Given the description of an element on the screen output the (x, y) to click on. 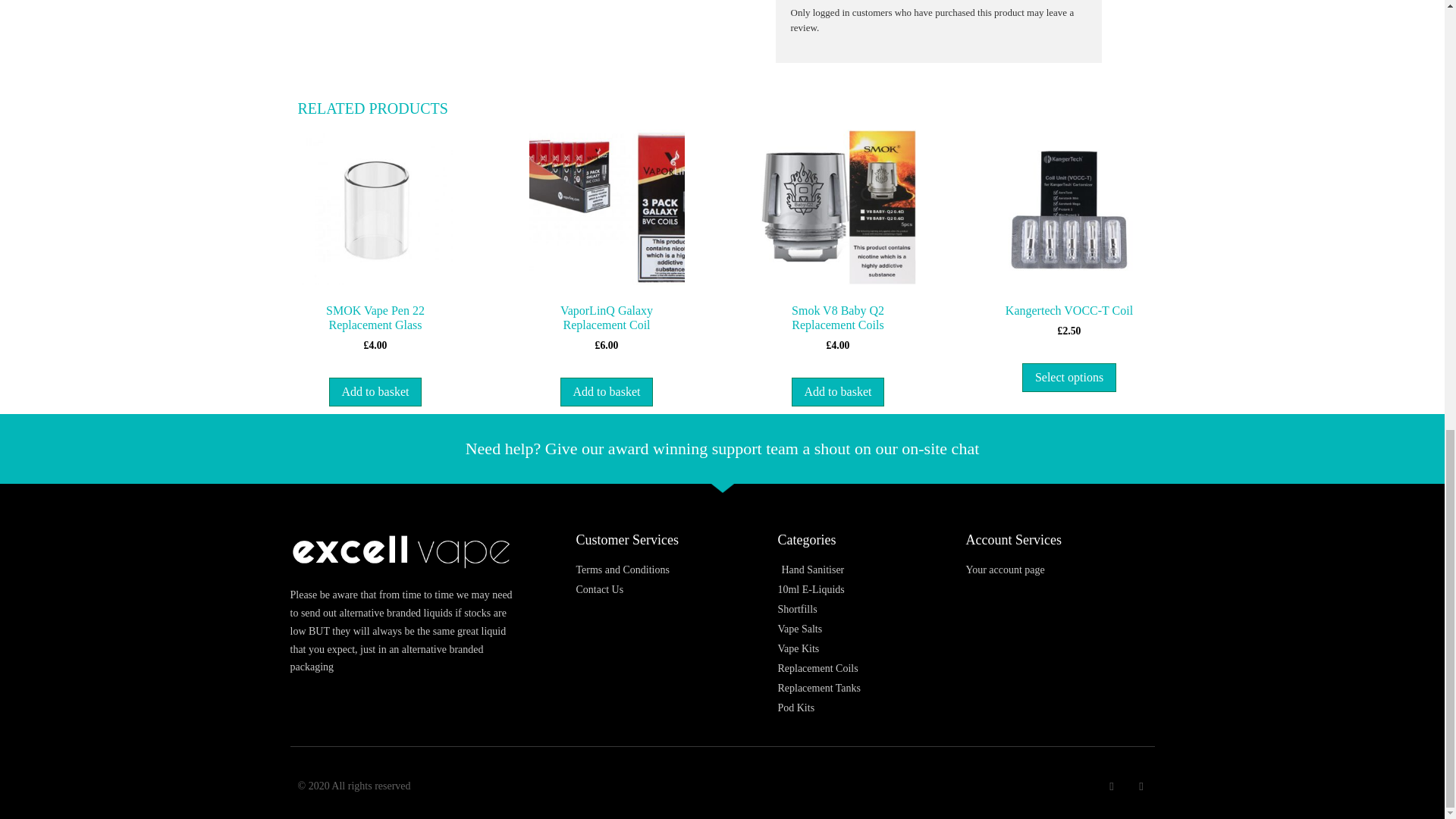
Add to basket (606, 391)
Add to basket (375, 391)
Select options (1069, 377)
Add to basket (838, 391)
